Given the description of an element on the screen output the (x, y) to click on. 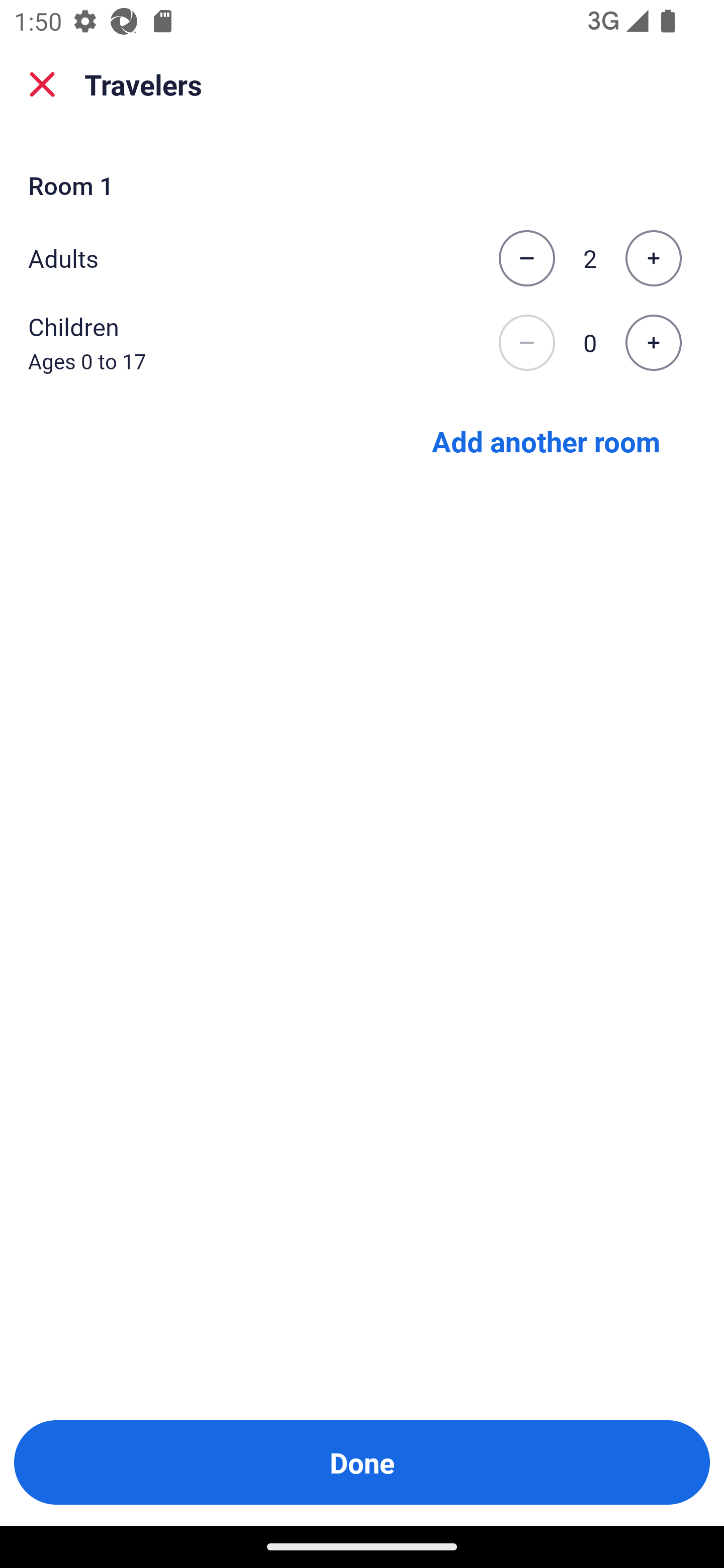
close (42, 84)
Decrease the number of adults (526, 258)
Increase the number of adults (653, 258)
Decrease the number of children (526, 343)
Increase the number of children (653, 343)
Add another room (545, 440)
Done (361, 1462)
